Given the description of an element on the screen output the (x, y) to click on. 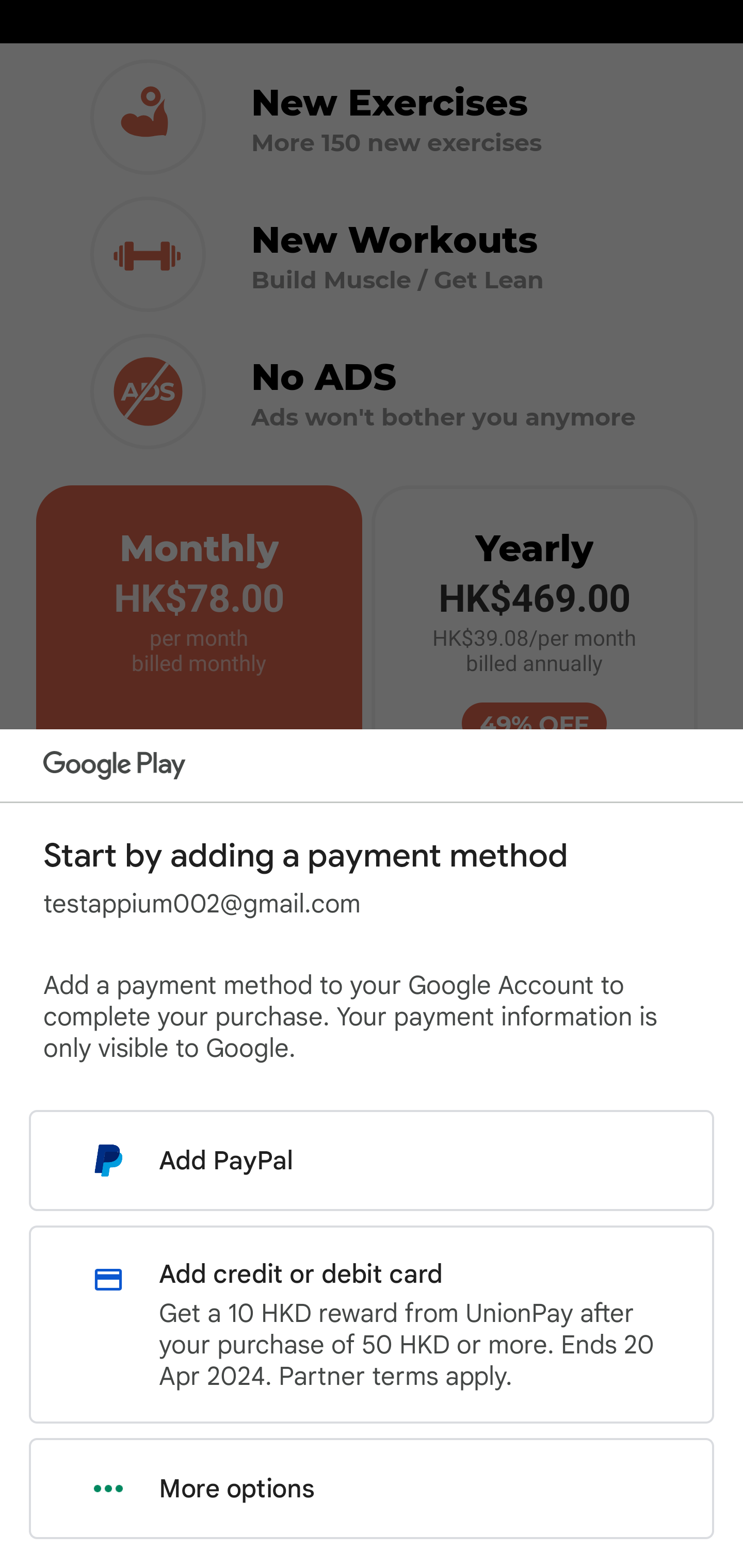
Add PayPal (371, 1160)
More options (371, 1488)
